Given the description of an element on the screen output the (x, y) to click on. 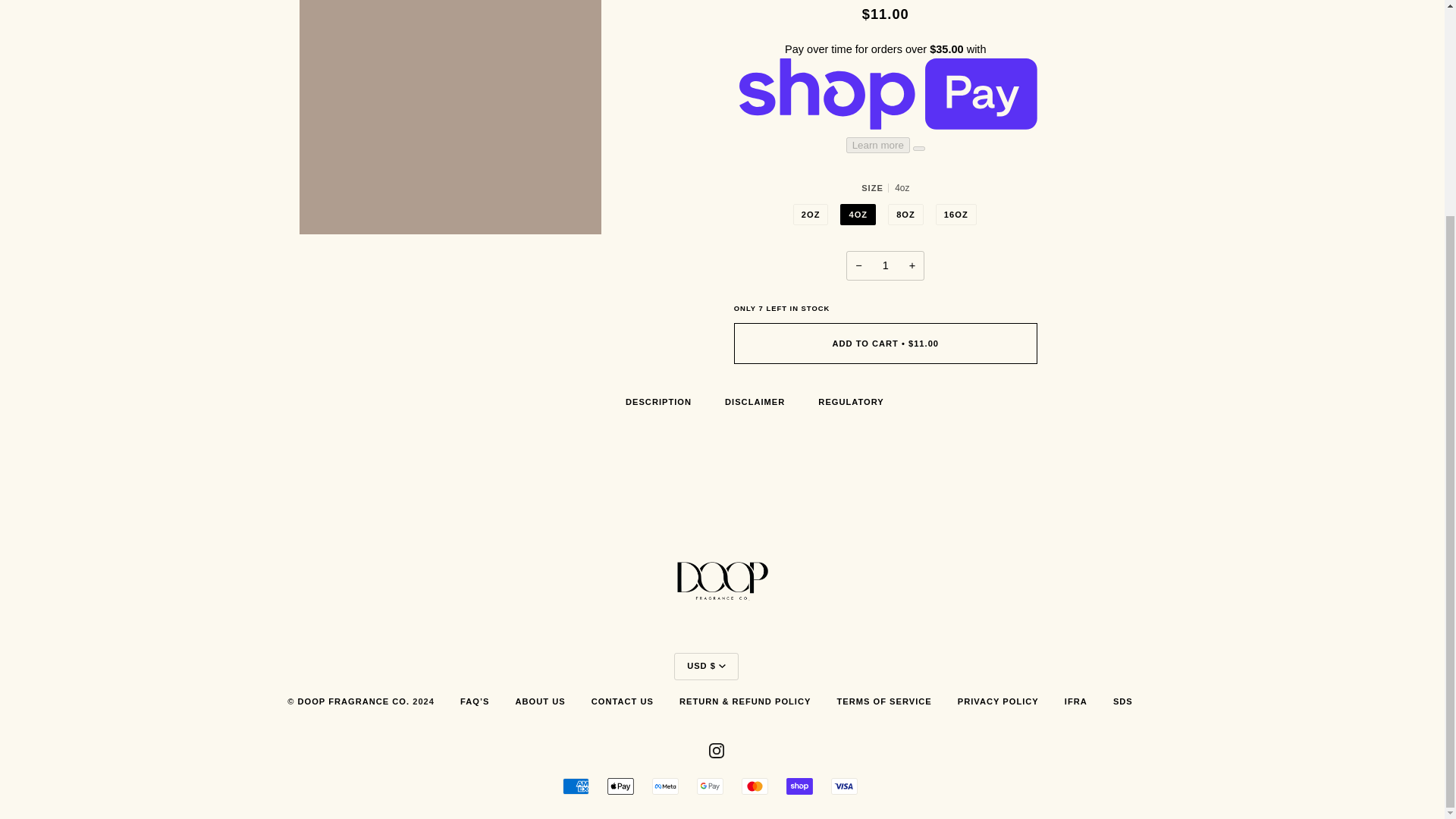
VISA (844, 786)
GOOGLE PAY (710, 786)
Instagram (715, 749)
SHOP PAY (799, 786)
META PAY (665, 786)
MASTERCARD (754, 786)
APPLE PAY (620, 786)
AMERICAN EXPRESS (575, 786)
1 (884, 265)
